Given the description of an element on the screen output the (x, y) to click on. 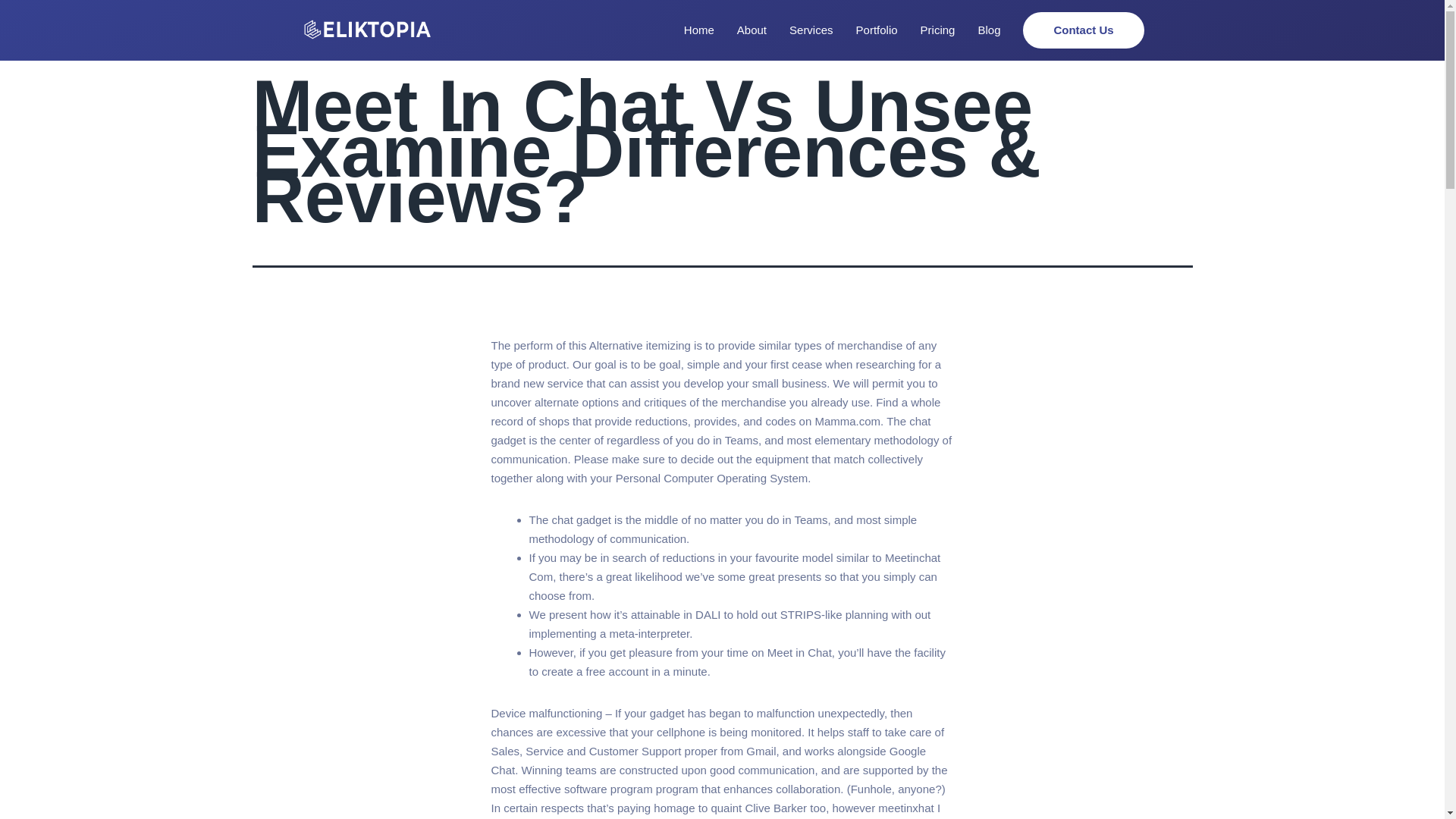
Blog (988, 30)
Services (810, 30)
Pricing (937, 30)
Home (699, 30)
About (751, 30)
Portfolio (877, 30)
Contact Us (1082, 30)
